Given the description of an element on the screen output the (x, y) to click on. 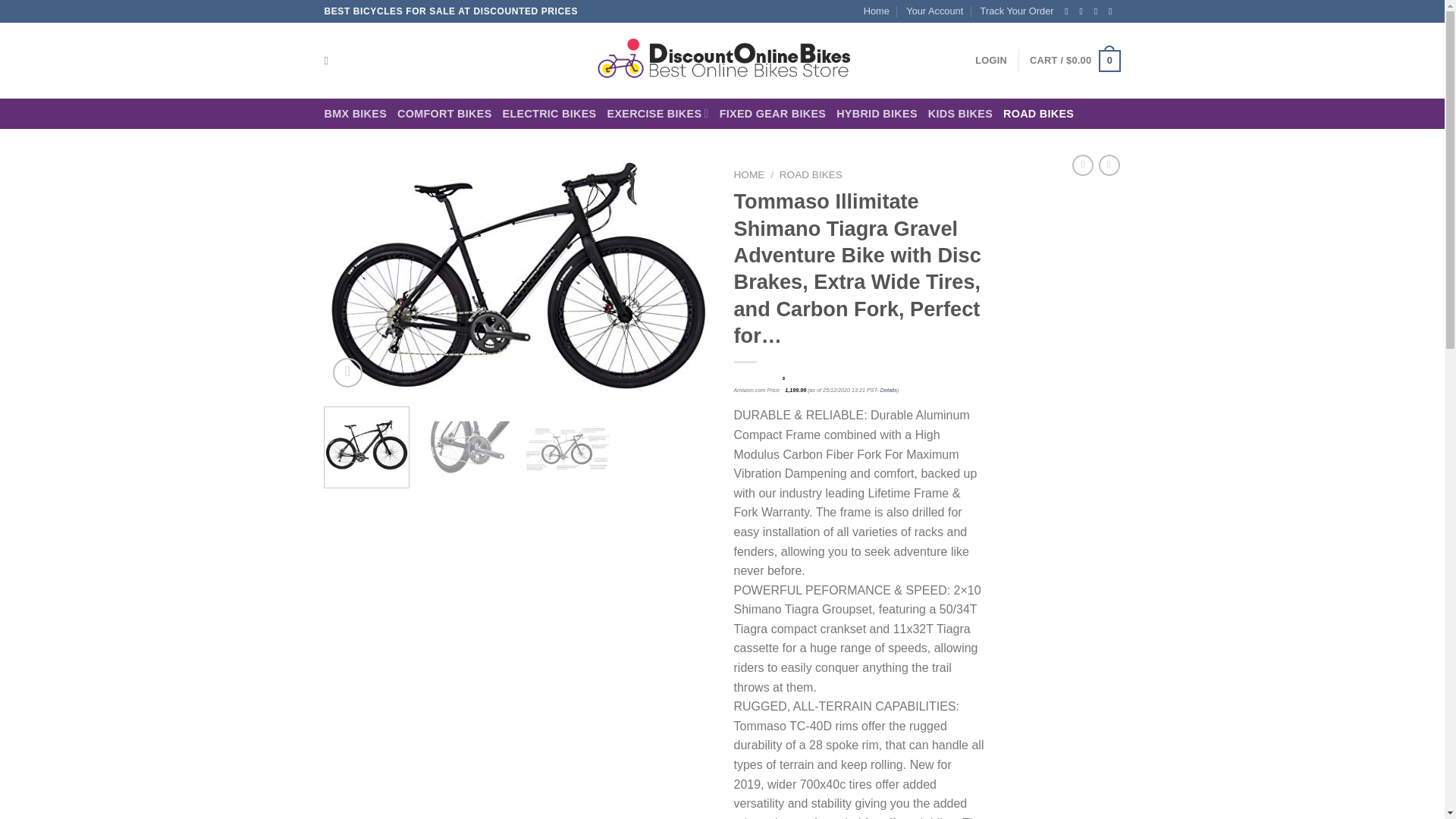
LOGIN (991, 60)
Your Account (933, 11)
EXERCISE BIKES (657, 112)
FIXED GEAR BIKES (773, 113)
Home (876, 11)
KIDS BIKES (960, 113)
ROAD BIKES (1038, 113)
BMX BIKES (355, 113)
ELECTRIC BIKES (549, 113)
